Given the description of an element on the screen output the (x, y) to click on. 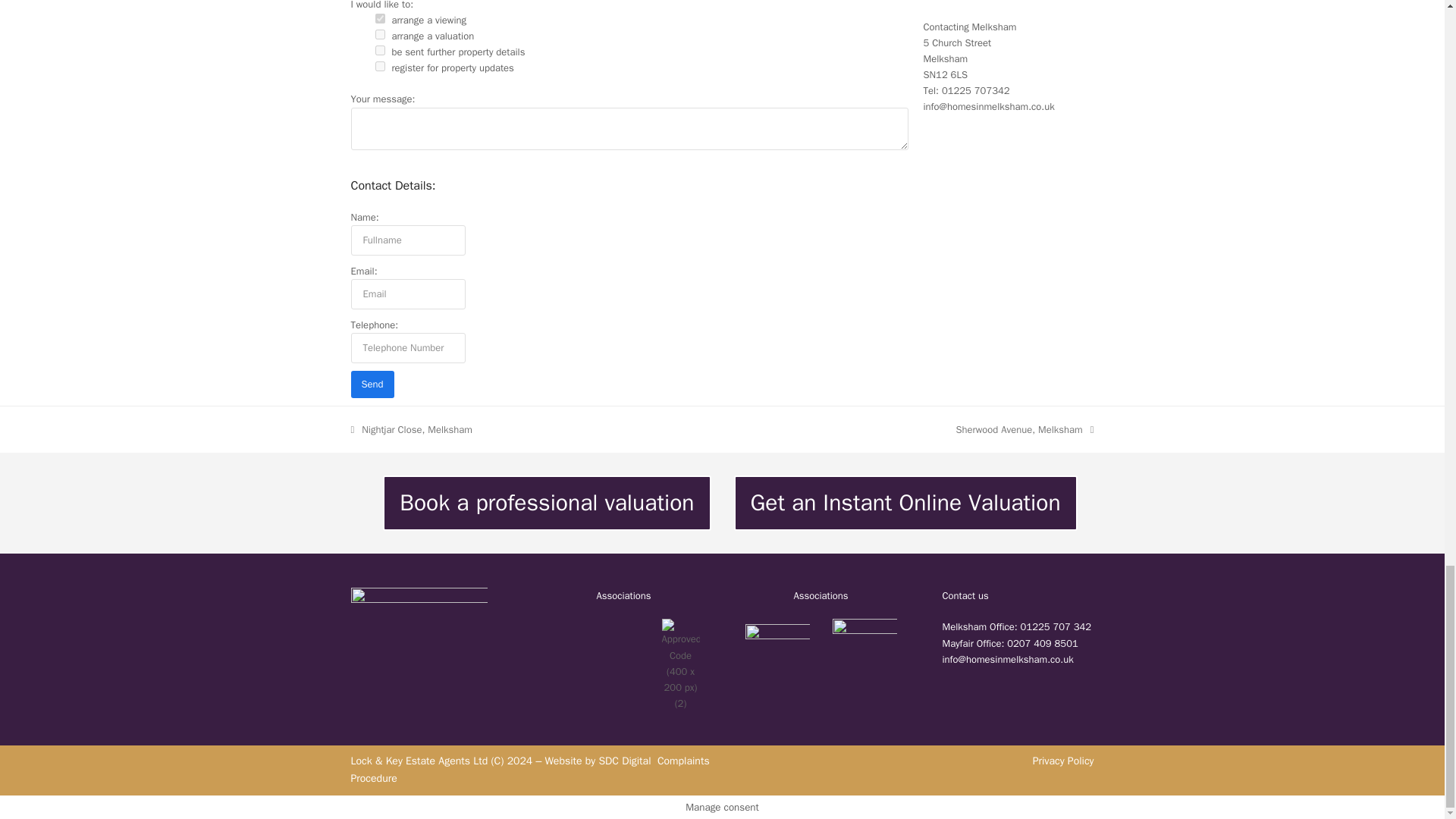
Send (371, 384)
true (379, 50)
true (379, 66)
true (379, 34)
true (379, 18)
